Given the description of an element on the screen output the (x, y) to click on. 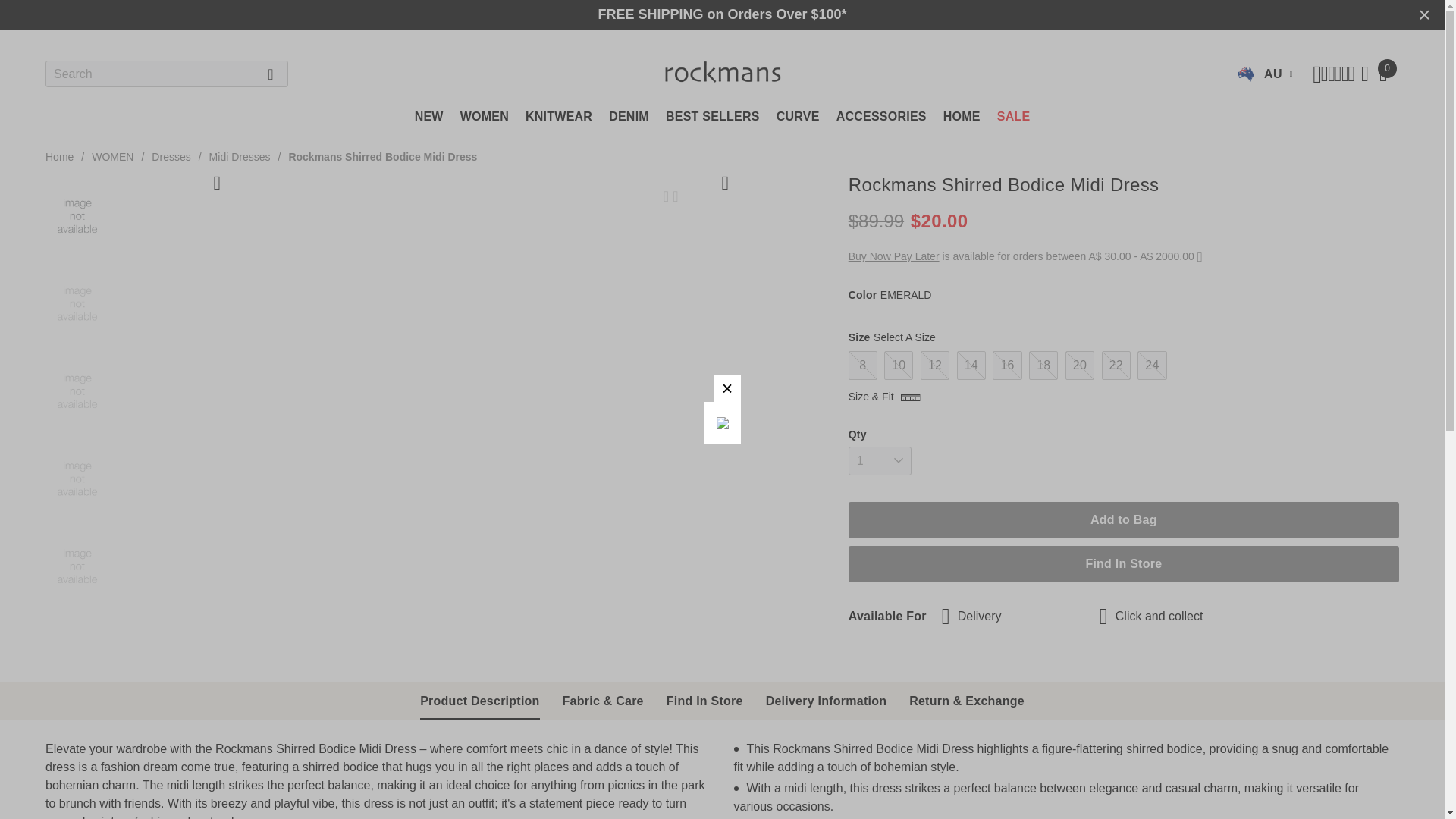
Cart 0 Items (1382, 73)
Rockmans (721, 73)
Menu (1264, 73)
0 (1382, 73)
NEW (429, 123)
Wishlist (672, 195)
WOMEN (484, 123)
